Given the description of an element on the screen output the (x, y) to click on. 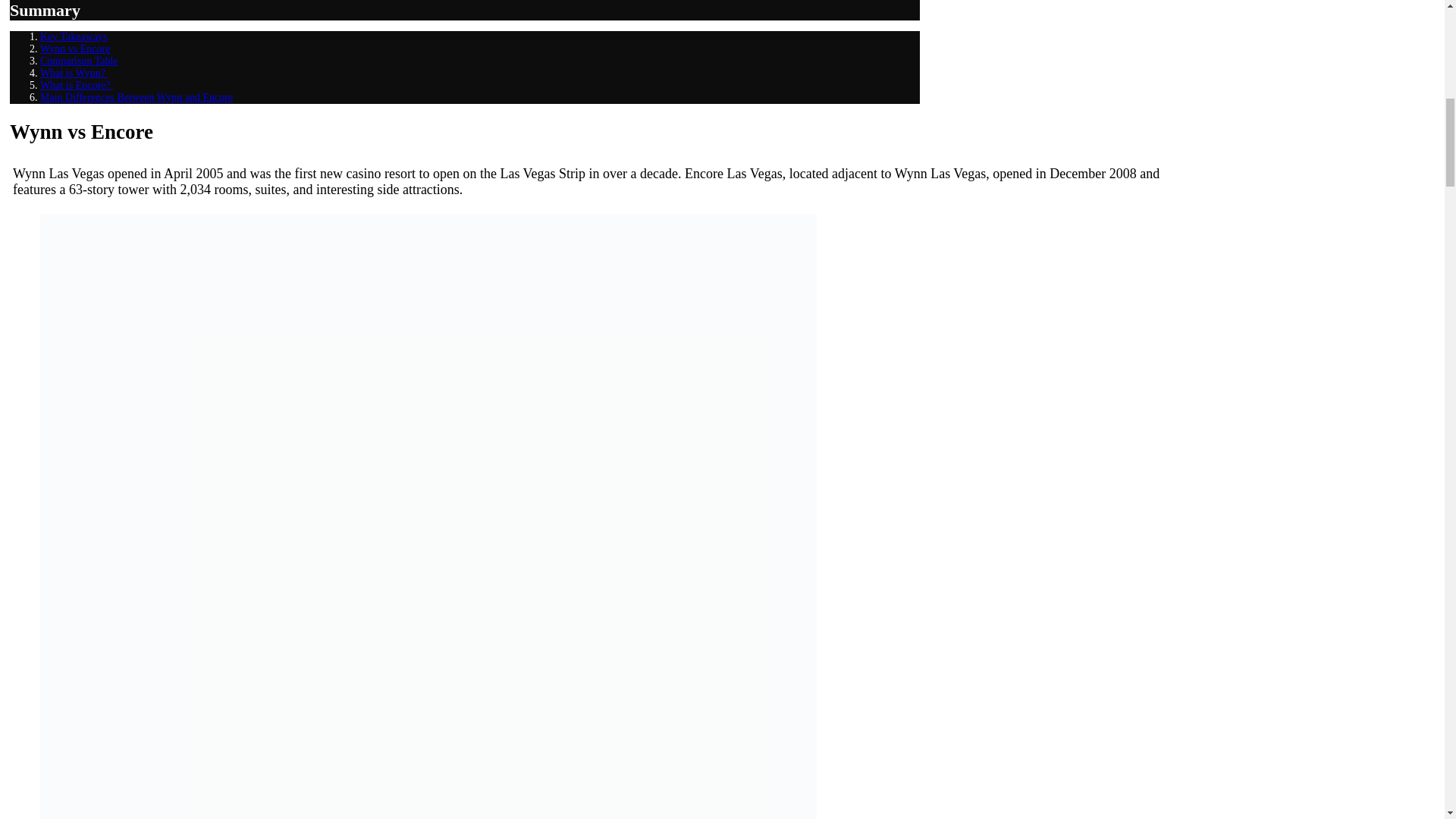
Comparison Table (78, 60)
What is Wynn?  (73, 72)
Key Takeaways (73, 36)
Main Differences Between Wynn and Encore (136, 97)
Wynn vs Encore (75, 48)
What is Encore?  (76, 84)
